Given the description of an element on the screen output the (x, y) to click on. 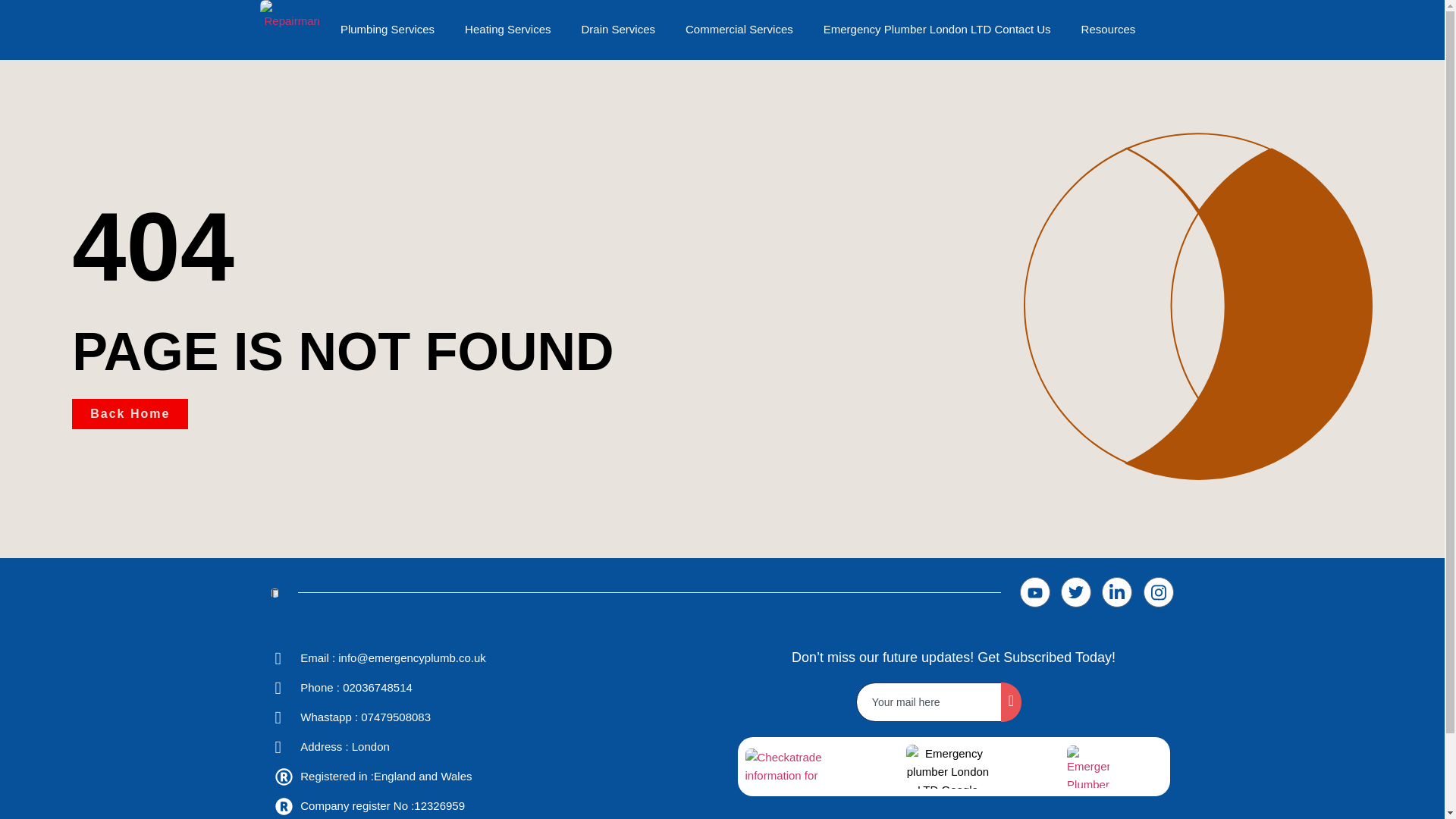
logo (1088, 766)
Heating Services (507, 29)
Drain Services (617, 29)
Plumbing Services (386, 29)
